Given the description of an element on the screen output the (x, y) to click on. 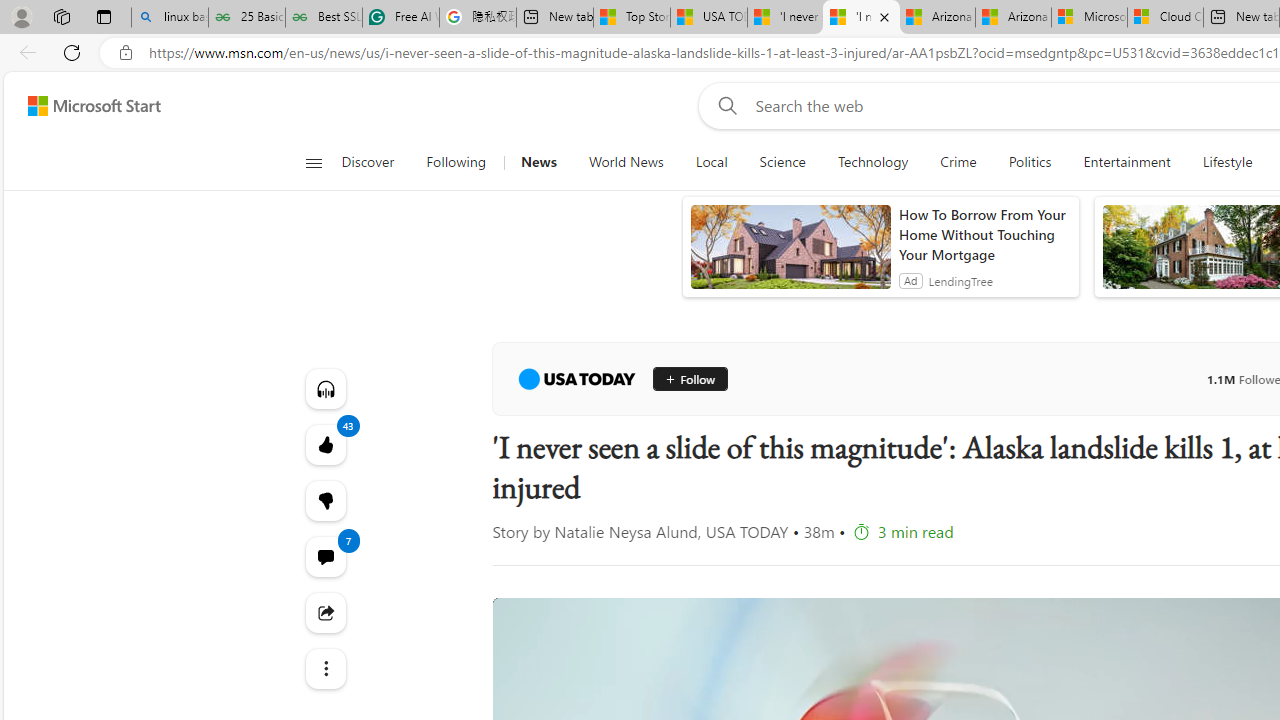
Open navigation menu (313, 162)
43 (324, 500)
Listen to this article (324, 388)
Best SSL Certificates Provider in India - GeeksforGeeks (323, 17)
Entertainment (1126, 162)
Class: button-glyph (313, 162)
